Given the description of an element on the screen output the (x, y) to click on. 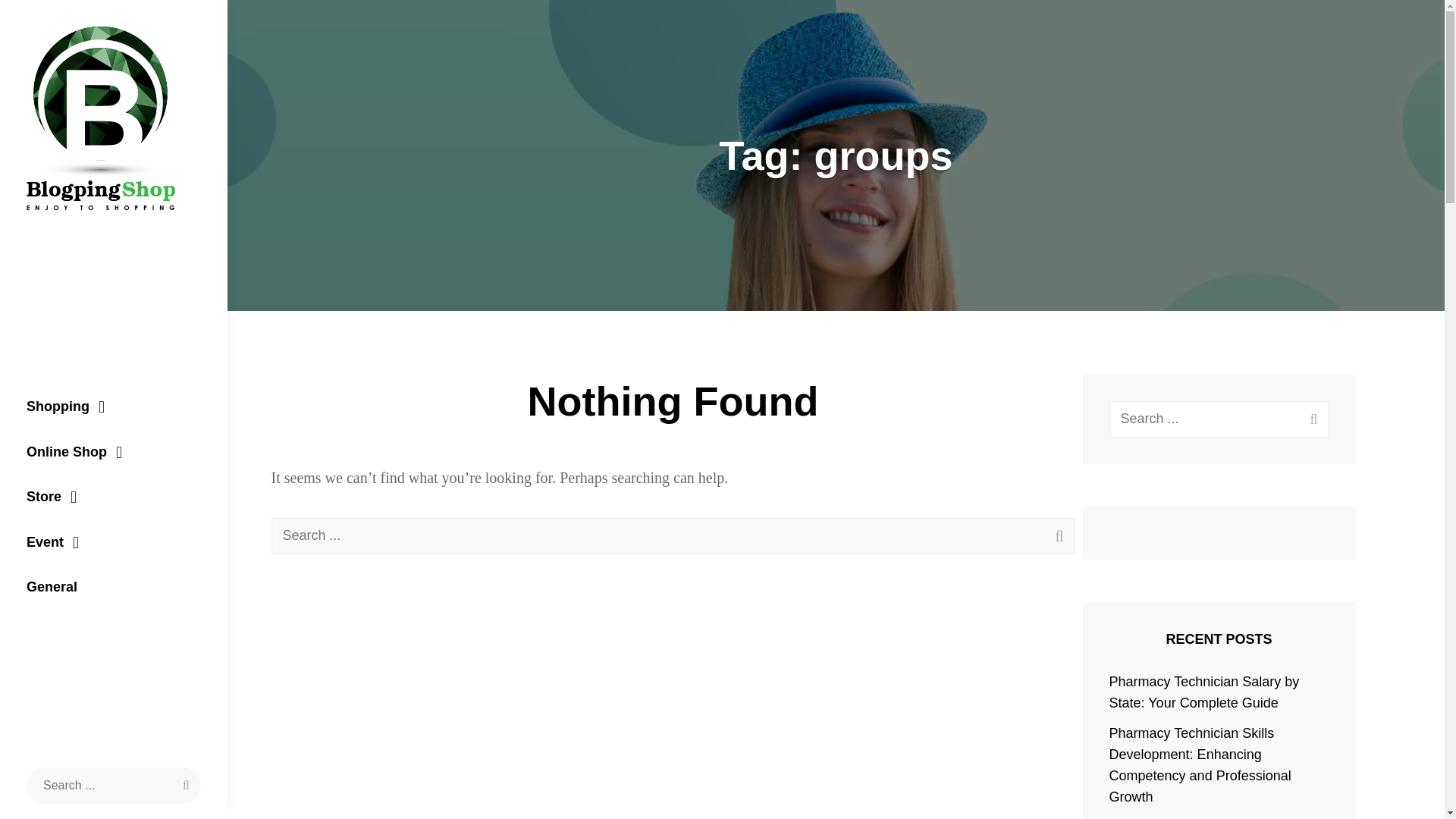
BLOGPING SHOP (90, 246)
Search for: (1219, 418)
General (113, 587)
Shopping (113, 406)
Search for: (113, 785)
Event (113, 542)
Online Shop (113, 452)
Search for: (672, 535)
Store (113, 497)
